Given the description of an element on the screen output the (x, y) to click on. 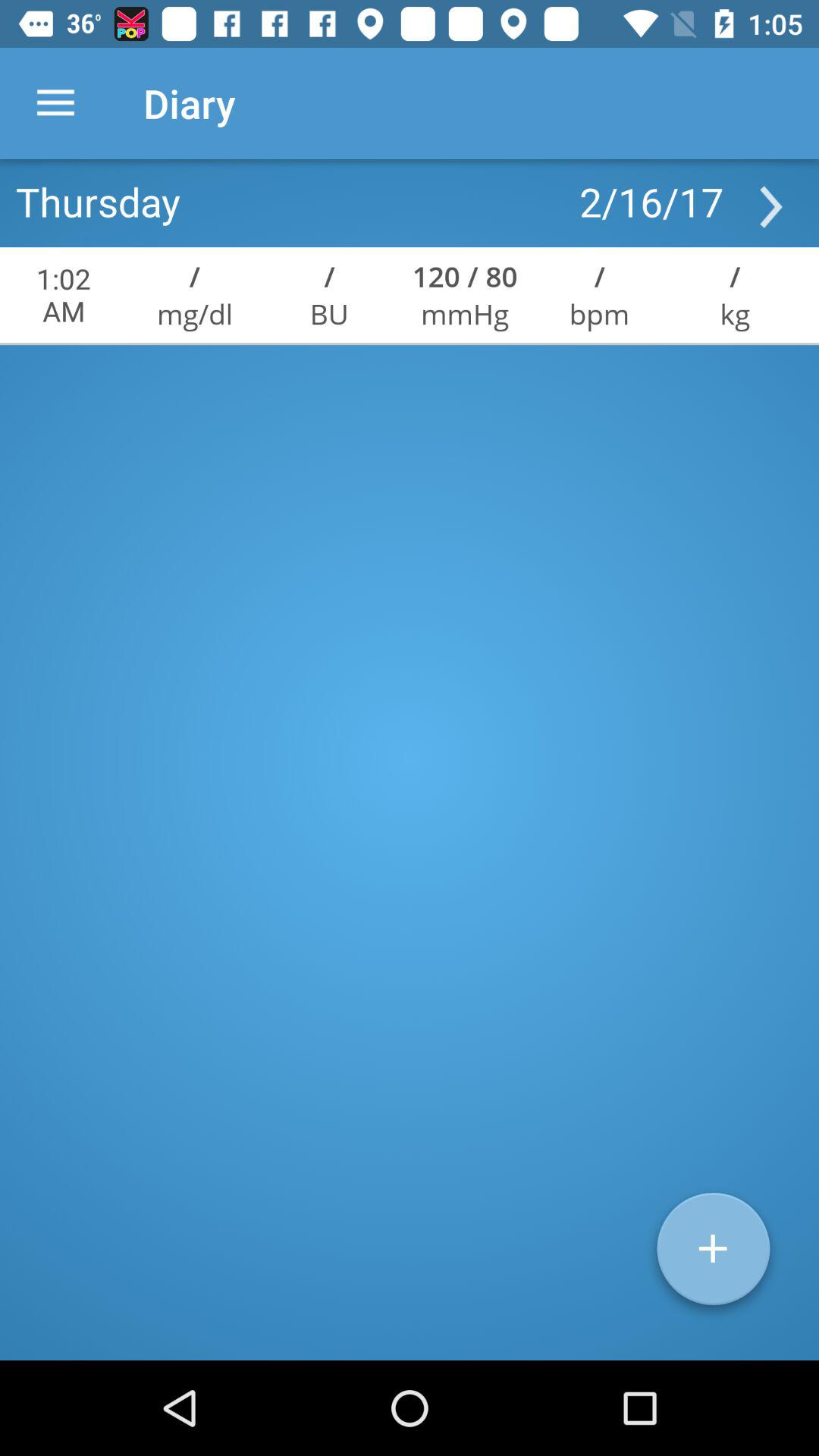
press item next to bu (464, 313)
